Given the description of an element on the screen output the (x, y) to click on. 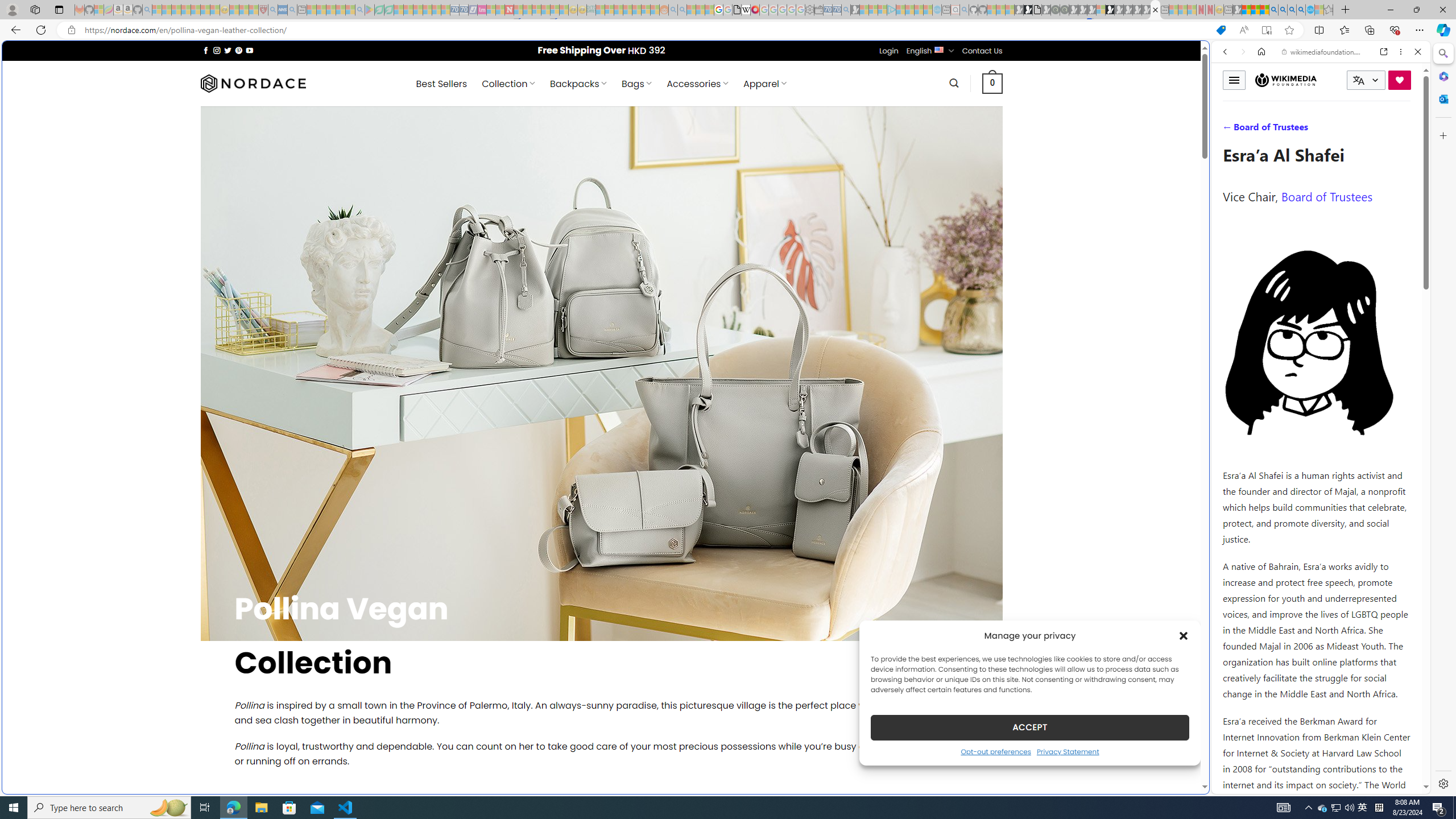
Privacy Statement (1067, 750)
Board of Trustees (1326, 195)
Search or enter web address (922, 108)
